Given the description of an element on the screen output the (x, y) to click on. 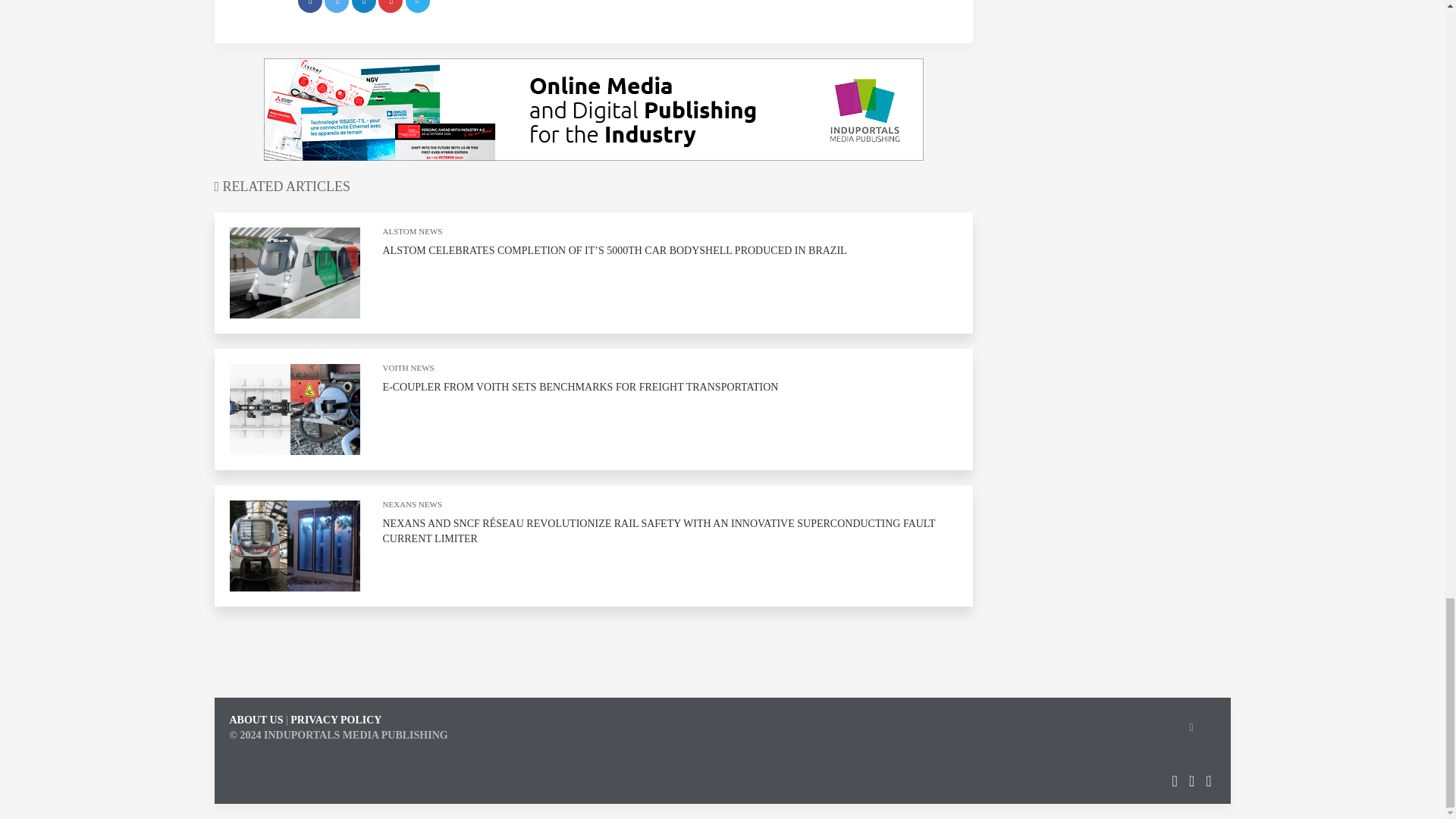
Share on Pinterest (390, 6)
Share on Facebook (309, 6)
Share on Twitter (336, 6)
Share on LinkedIn (363, 6)
